Given the description of an element on the screen output the (x, y) to click on. 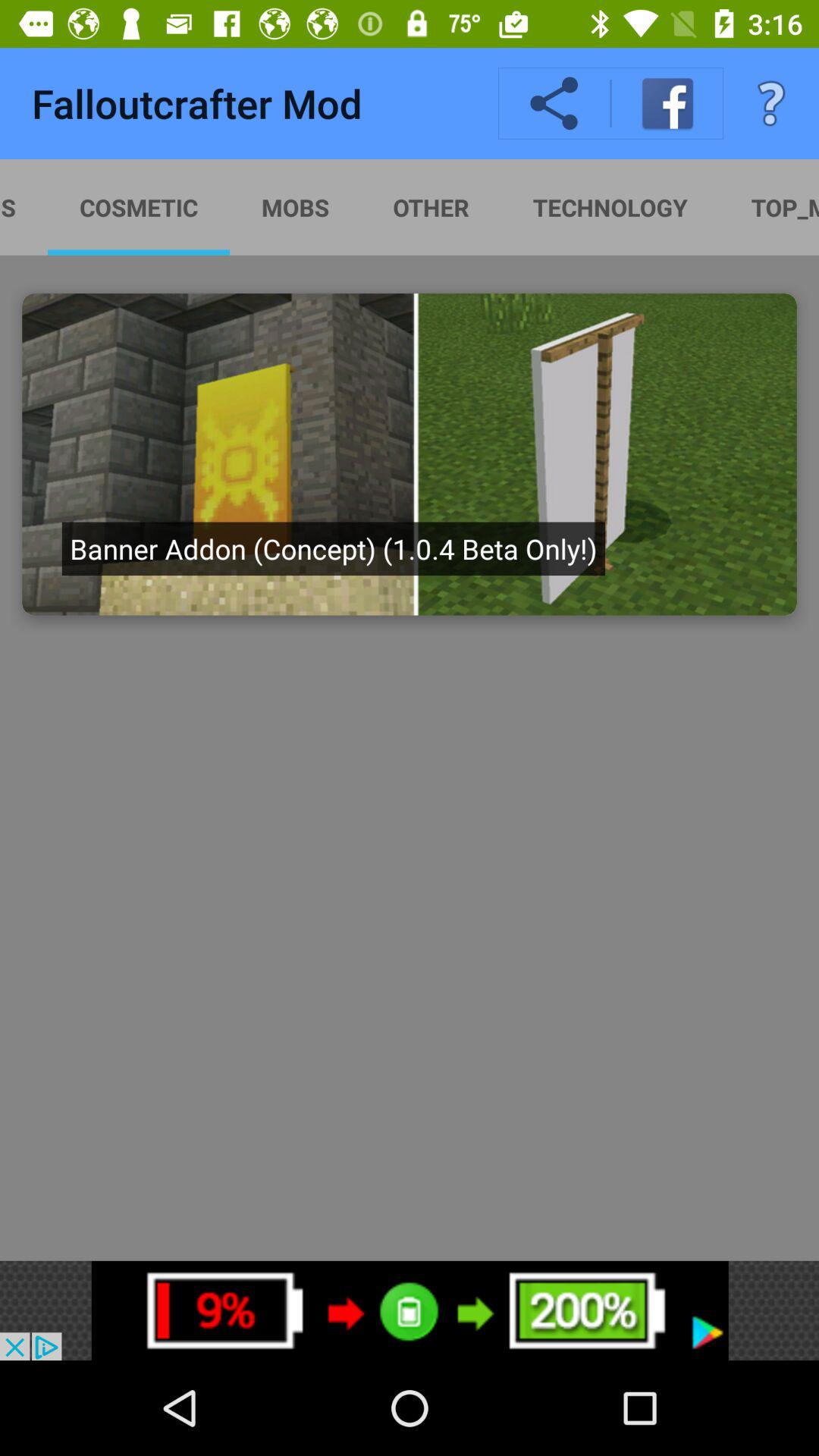
open advertisement (409, 1310)
